Given the description of an element on the screen output the (x, y) to click on. 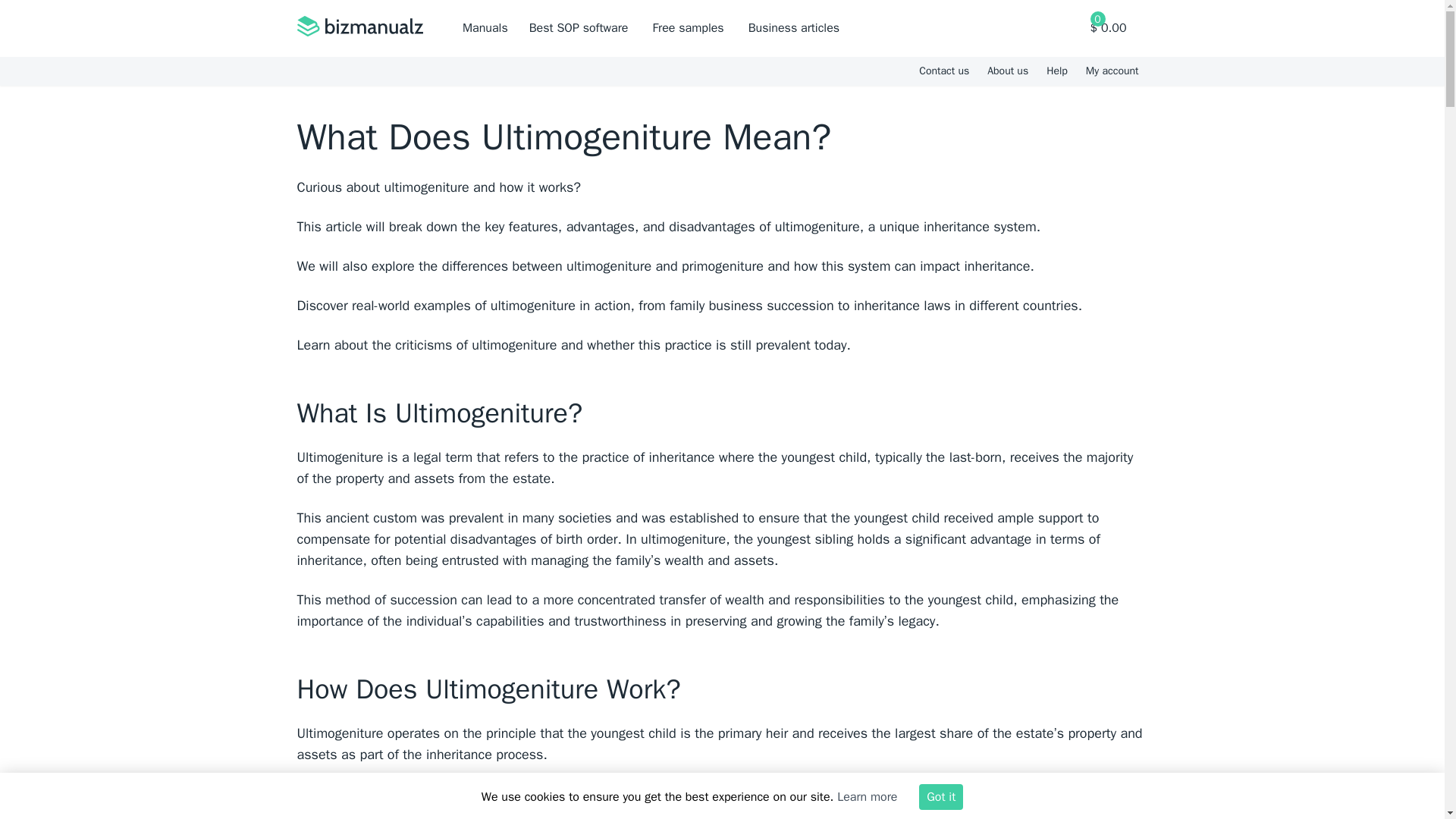
Best SOP software (578, 28)
Business articles (794, 28)
Free samples (687, 28)
Bizmanualz (360, 28)
